Given the description of an element on the screen output the (x, y) to click on. 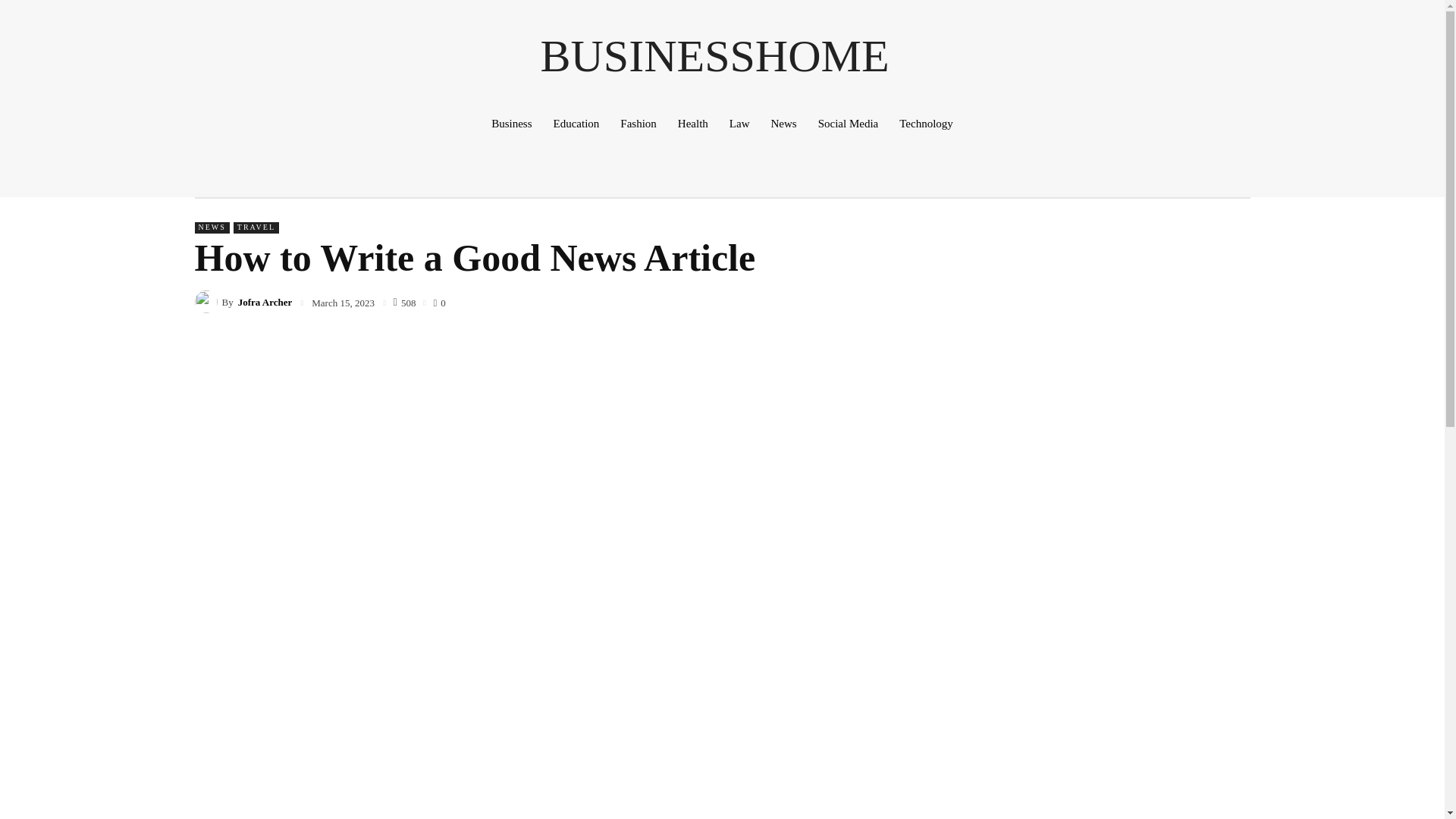
Jofra Archer (265, 302)
BUSINESSHOME (713, 55)
Jofra Archer (207, 301)
Business (510, 123)
News (783, 123)
Education (576, 123)
Technology (925, 123)
Law (739, 123)
0 (438, 301)
Health (692, 123)
